Given the description of an element on the screen output the (x, y) to click on. 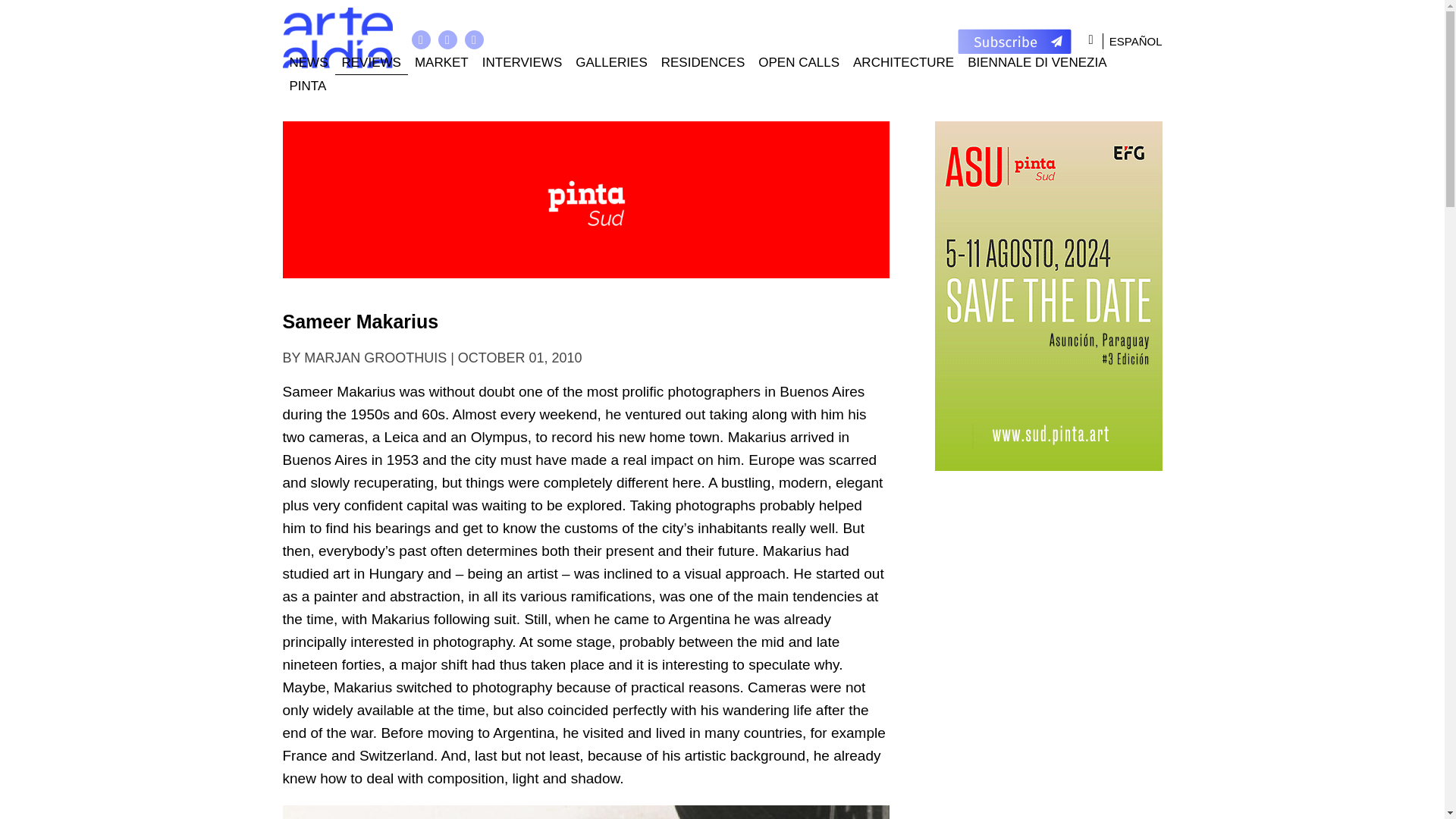
Home (336, 37)
PINTA (307, 86)
RESIDENCES (702, 63)
OPEN CALLS (798, 63)
MARKET (441, 63)
INTERVIEWS (522, 63)
BIENNALE DI VENEZIA (1036, 63)
ARCHITECTURE (902, 63)
GALLERIES (611, 63)
NEWS (308, 63)
